Given the description of an element on the screen output the (x, y) to click on. 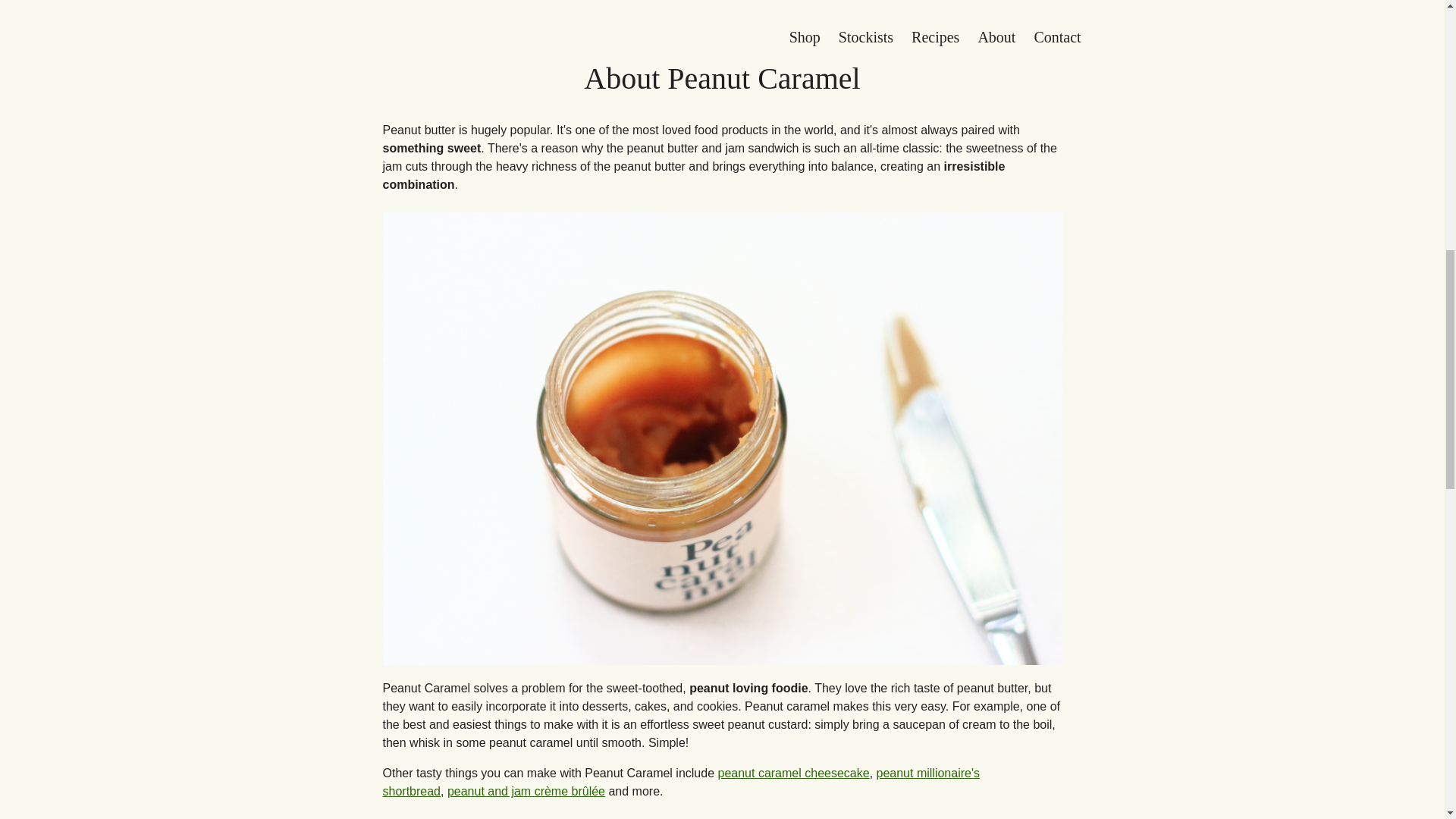
peanut caramel cheesecake (793, 772)
peanut millionaire's shortbread (679, 781)
